Given the description of an element on the screen output the (x, y) to click on. 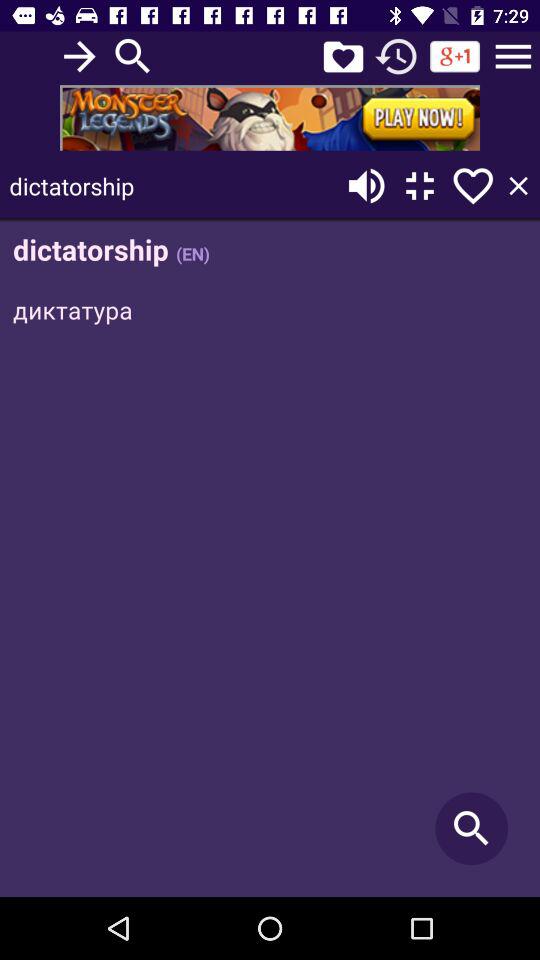
refresh content (396, 56)
